Given the description of an element on the screen output the (x, y) to click on. 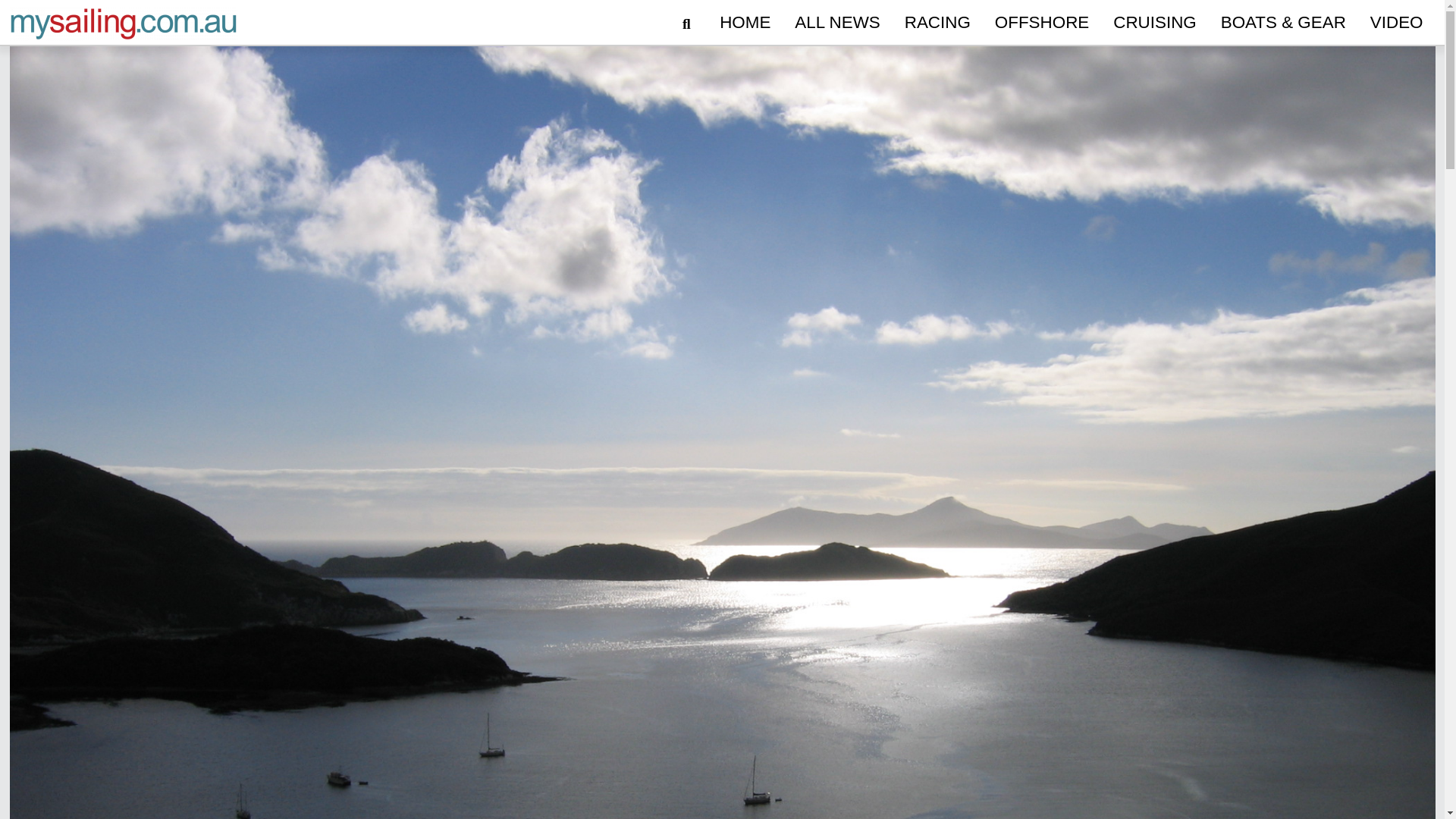
ALL NEWS (837, 22)
Racing (937, 22)
CRUISING (1154, 22)
OFFSHORE (1041, 22)
Cruising (1154, 22)
VIDEO (1396, 22)
Offshore (1041, 22)
HOME (744, 22)
RACING (937, 22)
Video (1396, 22)
All News (837, 22)
Home (744, 22)
